Given the description of an element on the screen output the (x, y) to click on. 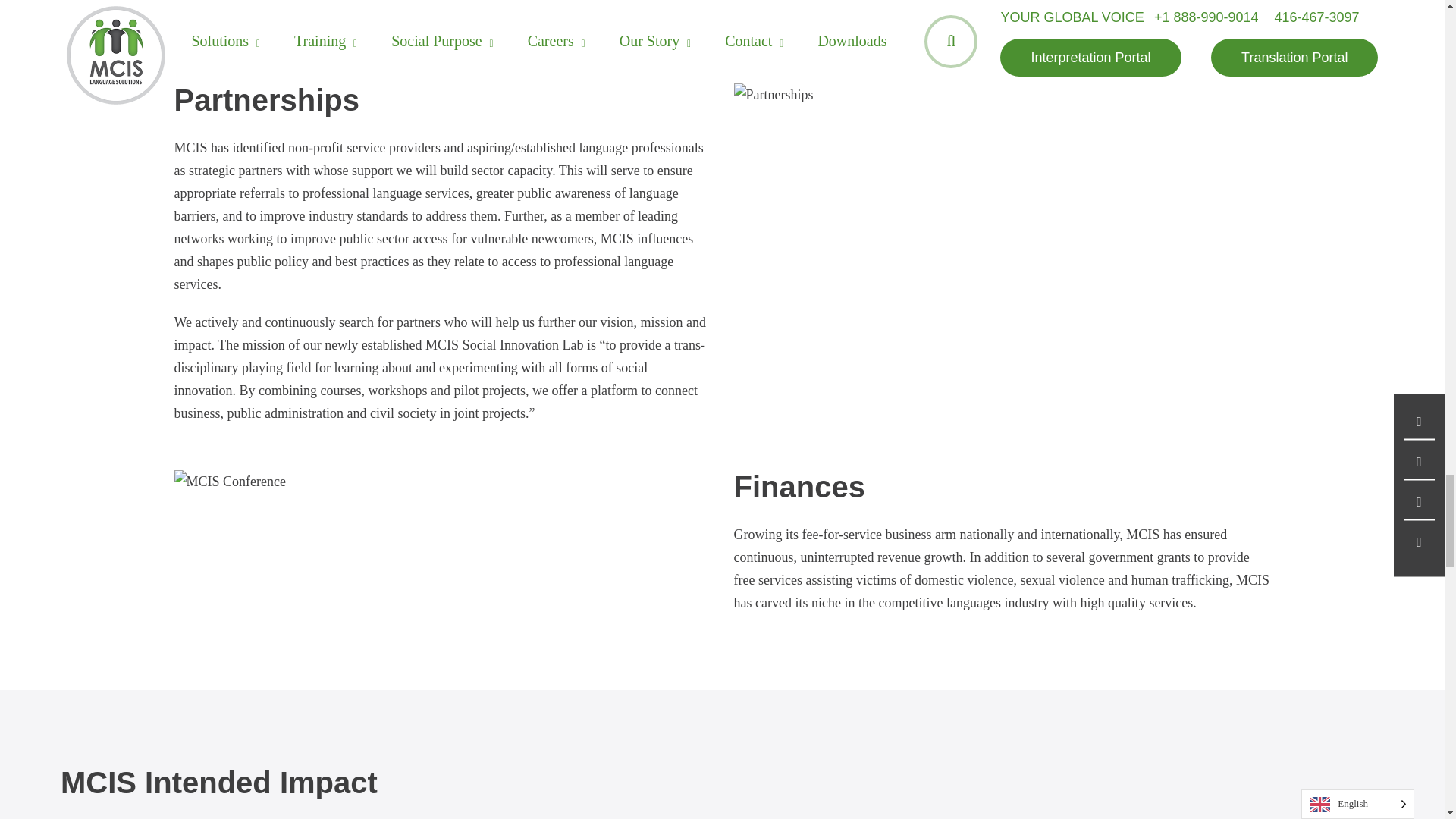
Partnerships (773, 94)
Our Community (442, 7)
MCIS Conference (229, 481)
